Given the description of an element on the screen output the (x, y) to click on. 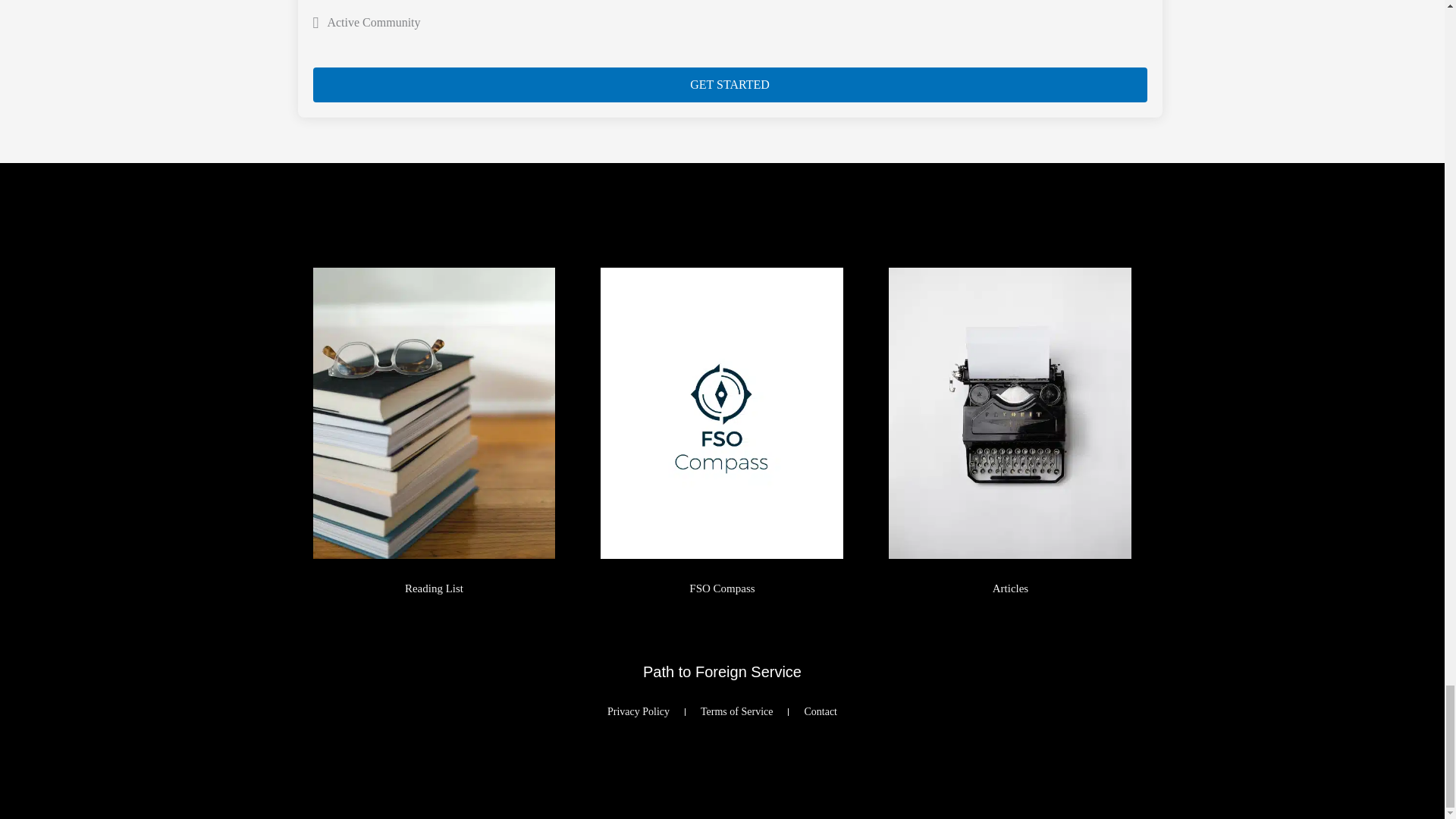
Reading List (434, 588)
FSO Compass (722, 588)
Privacy Policy (638, 711)
Terms of Service (736, 711)
Articles (1010, 588)
GET STARTED (730, 84)
Contact (820, 711)
Path to Foreign Service (722, 671)
